Given the description of an element on the screen output the (x, y) to click on. 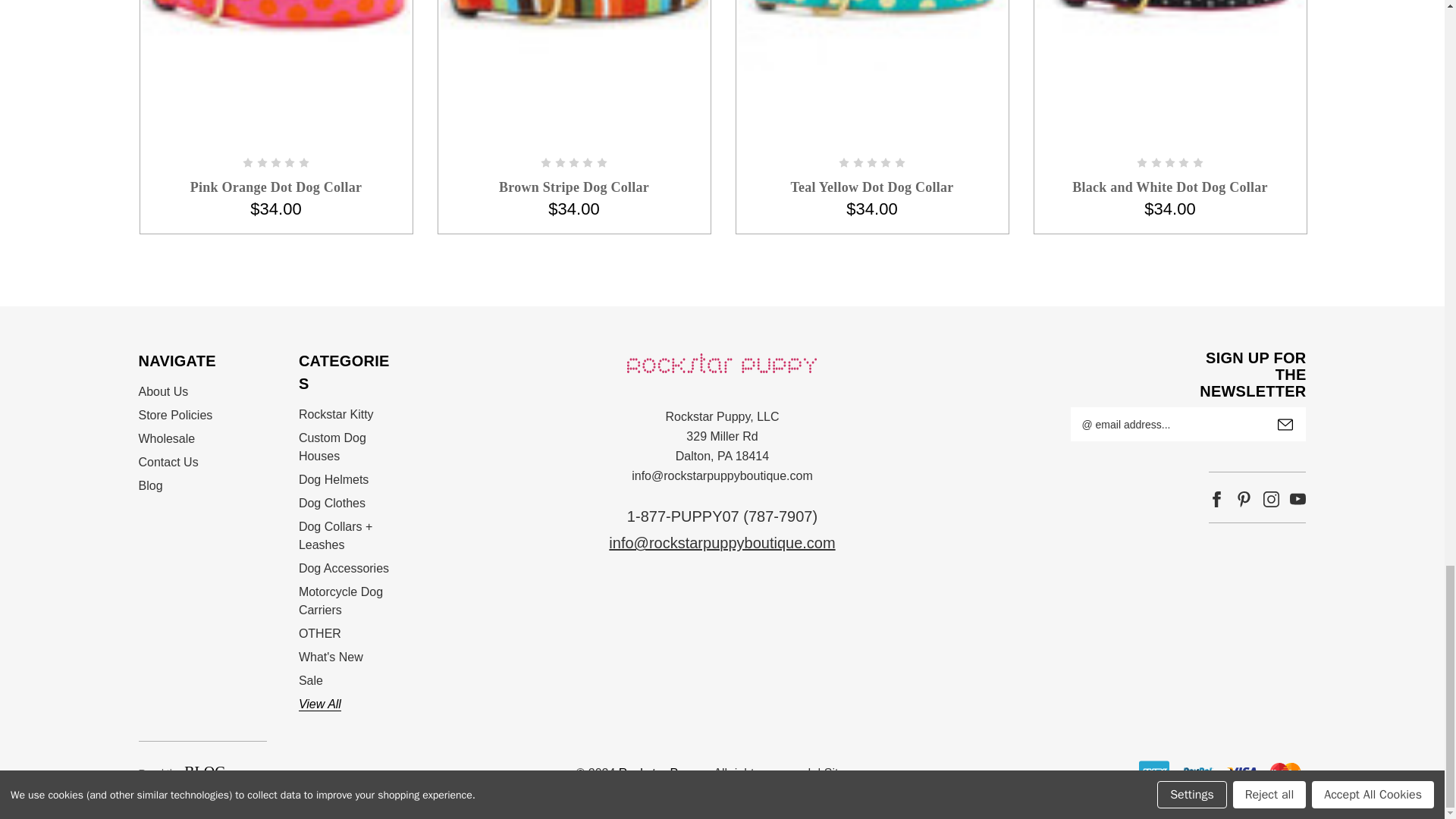
Teal Yellow Dot Dog Collar (872, 35)
Pink Orange Dot Dog Collar (276, 37)
Black and White Dot Dog Collar (1169, 37)
Brown Stripe Dog Collar (573, 39)
